Given the description of an element on the screen output the (x, y) to click on. 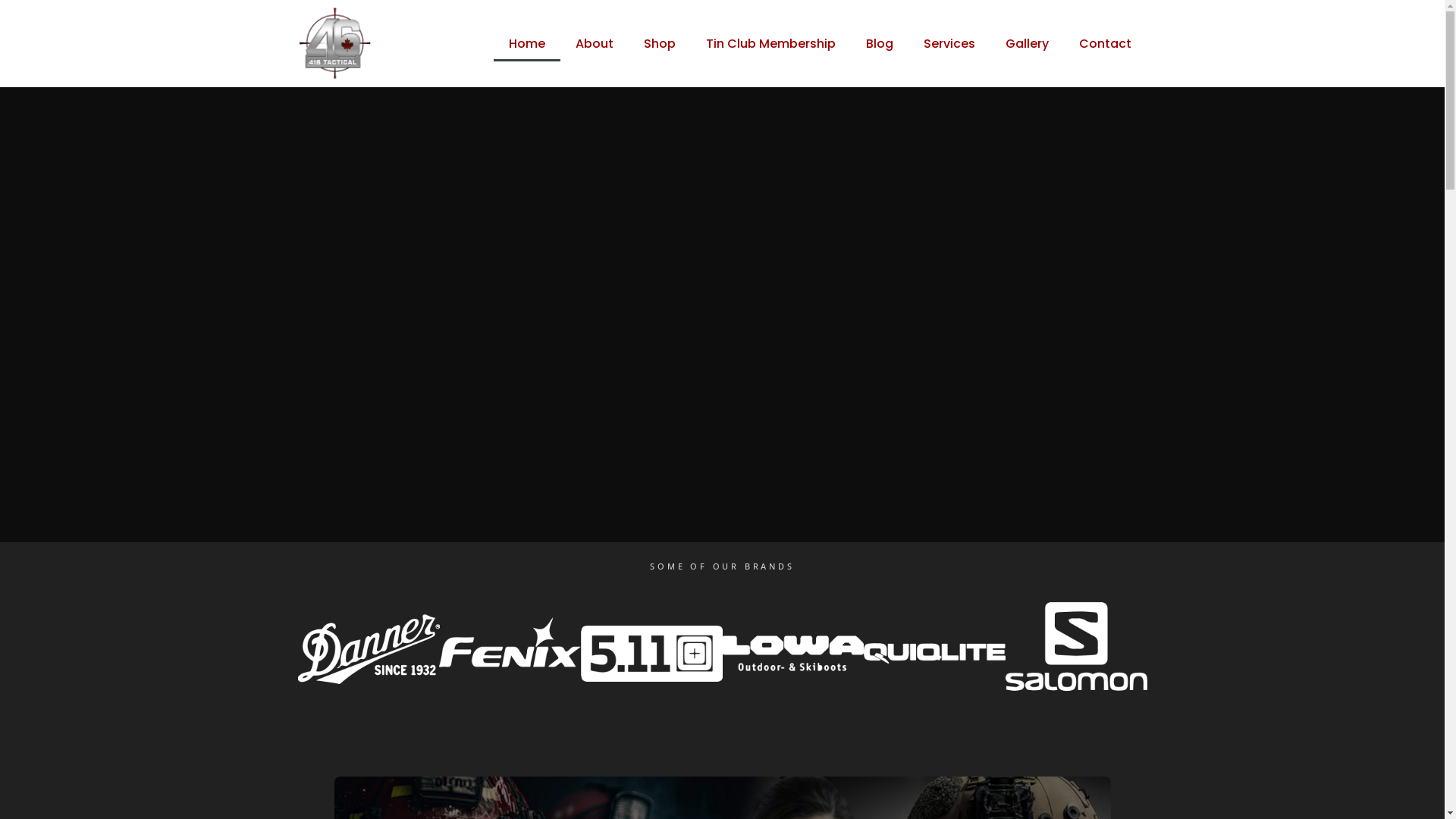
Tin Club Membership Element type: text (770, 43)
Shop Element type: text (659, 43)
Home Element type: text (526, 43)
Contact Element type: text (1104, 43)
About Element type: text (594, 43)
Gallery Element type: text (1026, 43)
Blog Element type: text (879, 43)
Services Element type: text (949, 43)
